Given the description of an element on the screen output the (x, y) to click on. 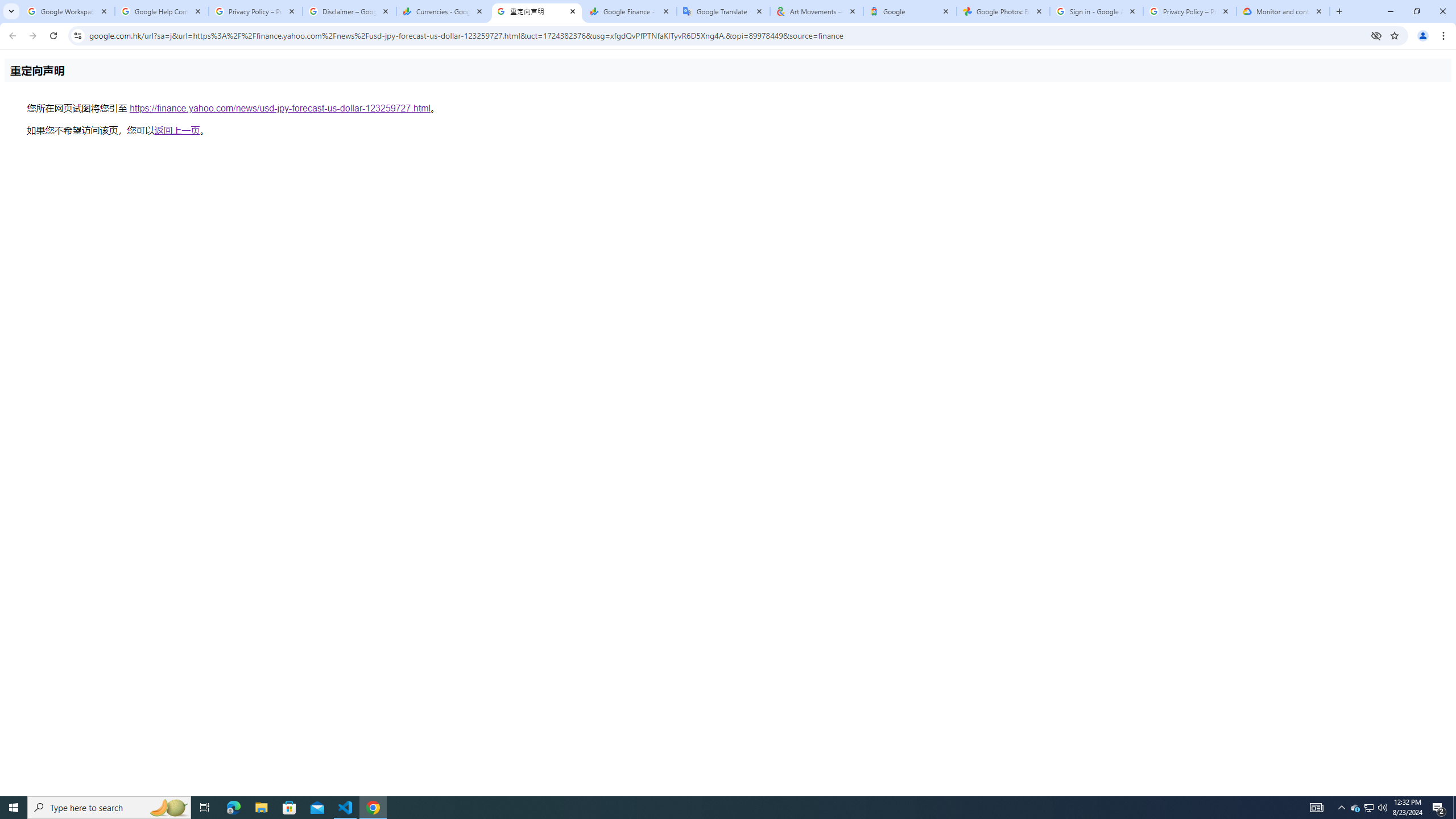
Google Translate (722, 11)
